Given the description of an element on the screen output the (x, y) to click on. 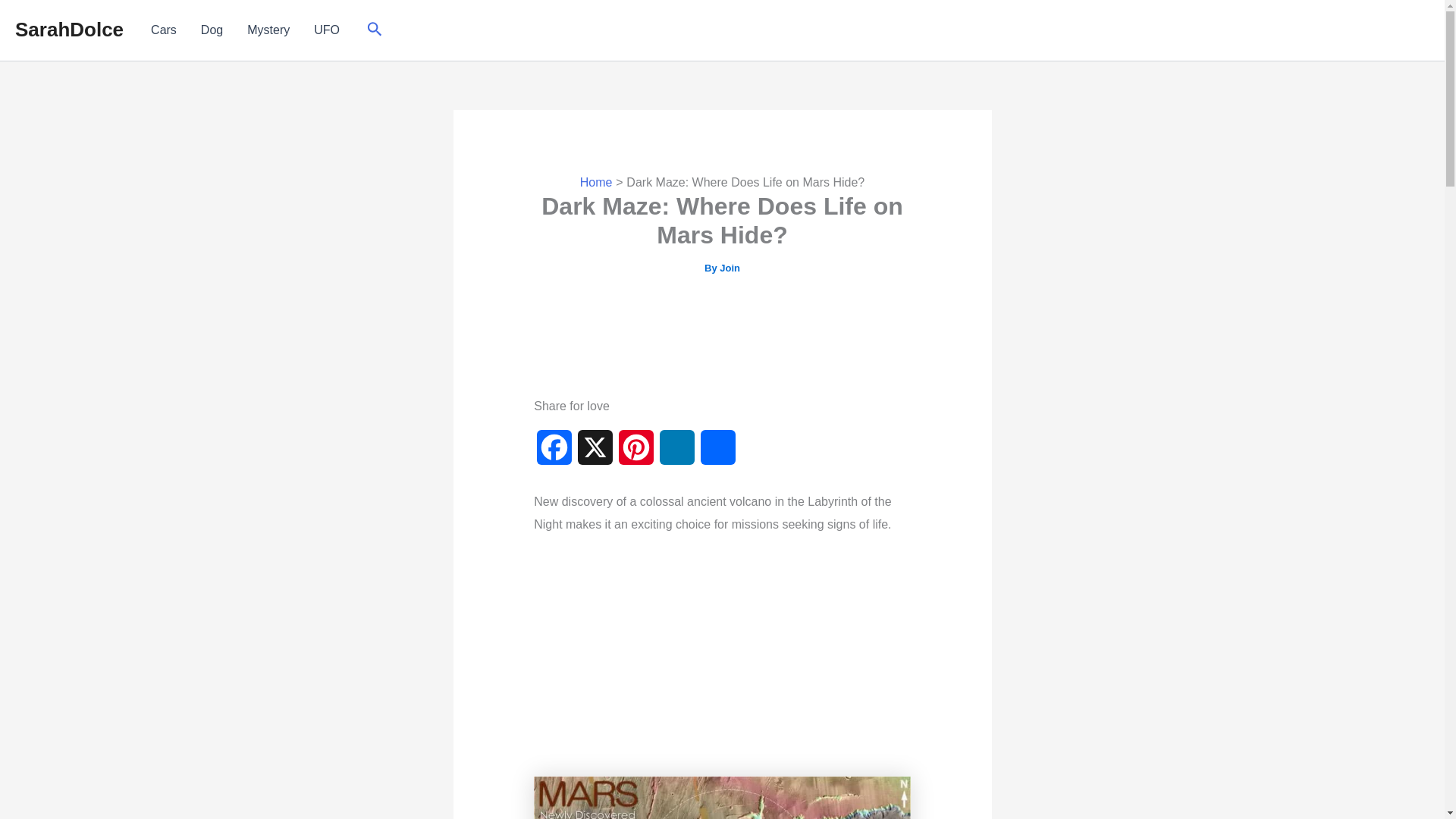
View all posts by Join (729, 267)
Home (595, 182)
Mystery (267, 30)
Join (729, 267)
SarahDolce (68, 29)
